Given the description of an element on the screen output the (x, y) to click on. 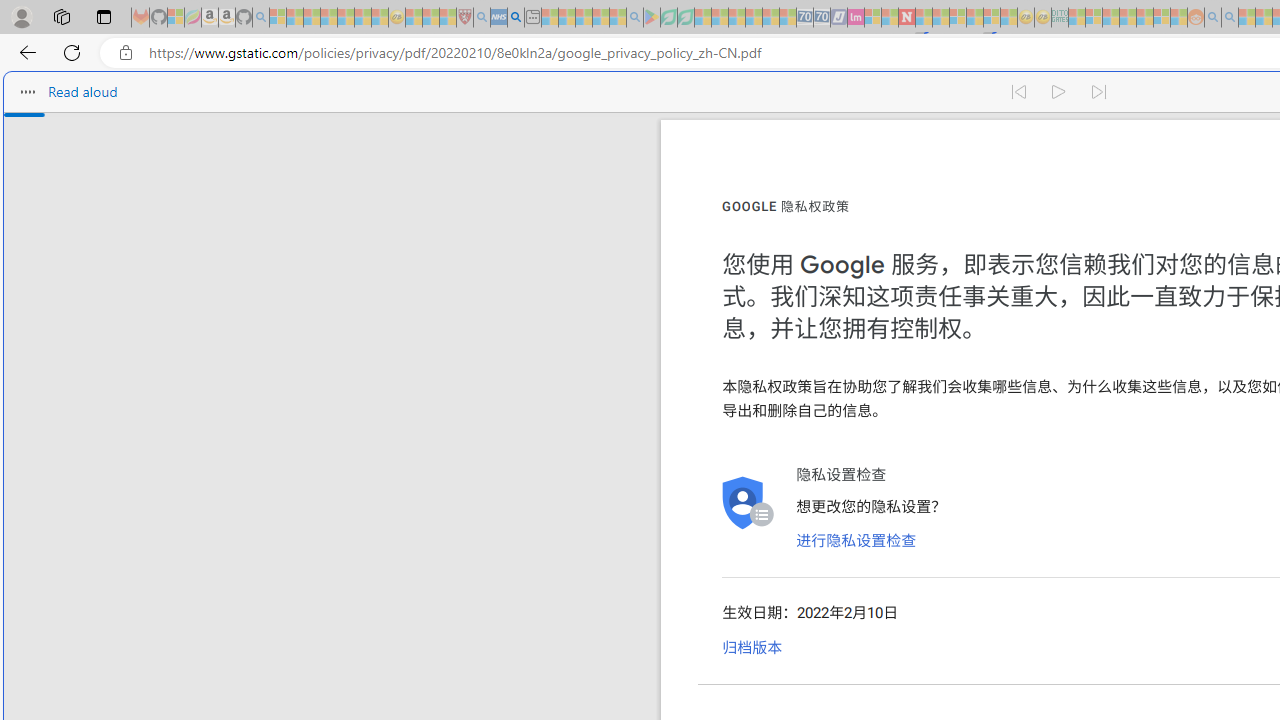
Utah sues federal government - Search - Sleeping (1229, 17)
